Given the description of an element on the screen output the (x, y) to click on. 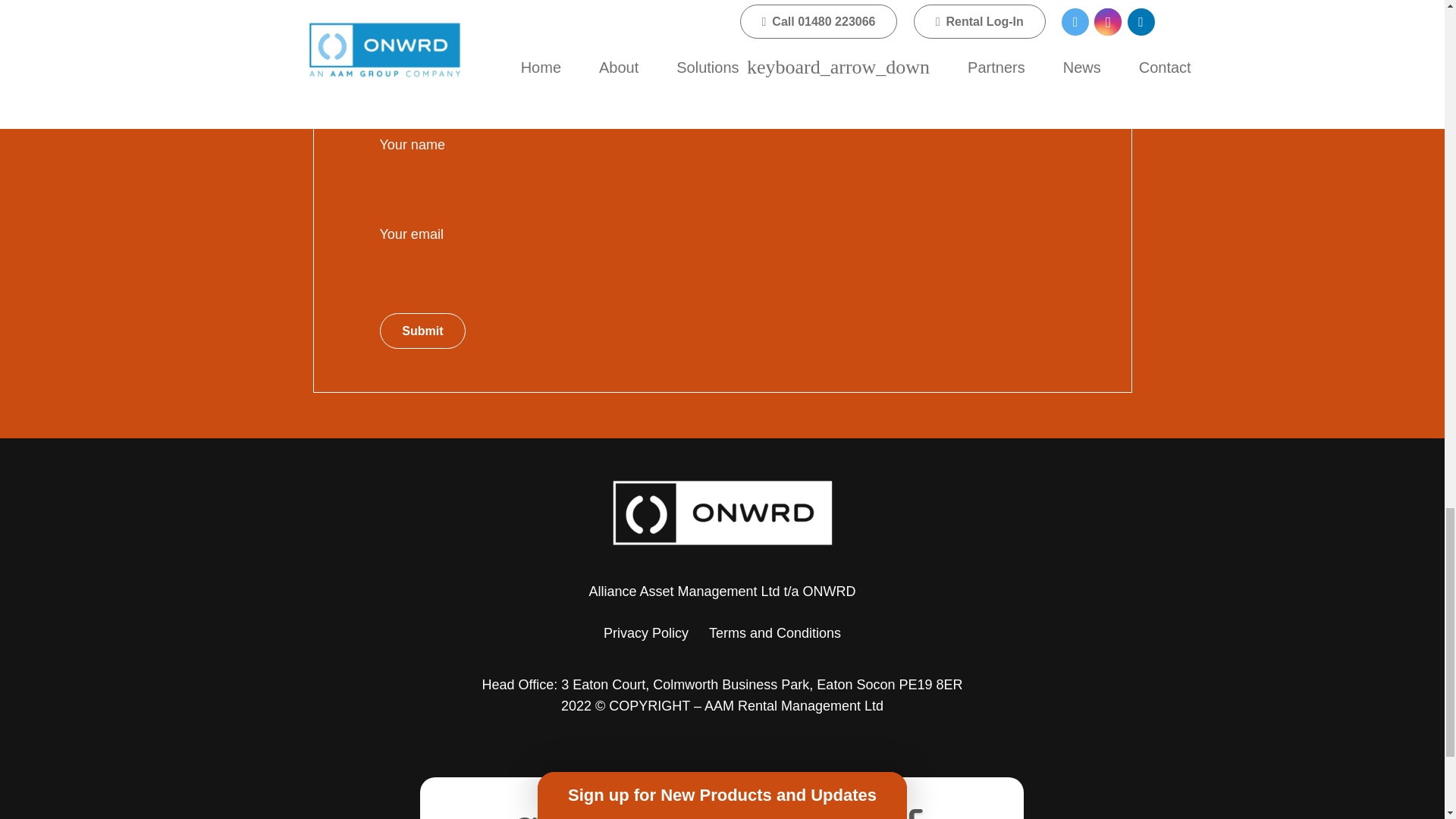
Privacy Policy (646, 632)
Submit (421, 330)
Submit (421, 330)
Terms and Conditions (775, 632)
